Given the description of an element on the screen output the (x, y) to click on. 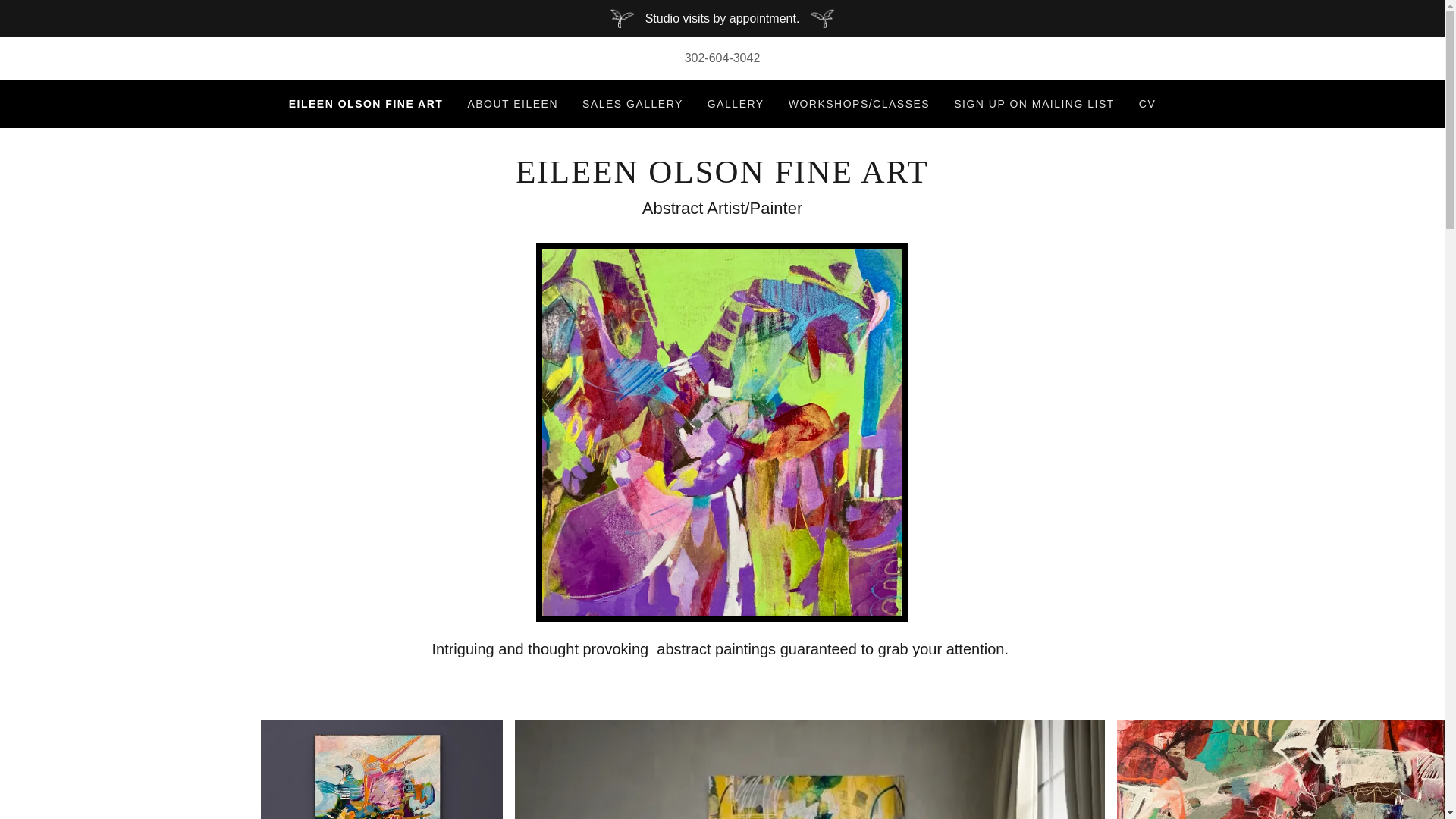
SIGN UP ON MAILING LIST (1034, 103)
GALLERY (735, 103)
302-604-3042 (722, 57)
EILEEN OLSON FINE ART (366, 104)
CV (1147, 103)
Eileen Olson FINE ART (721, 178)
EILEEN OLSON FINE ART (721, 178)
ABOUT EILEEN (512, 103)
SALES GALLERY (632, 103)
